Given the description of an element on the screen output the (x, y) to click on. 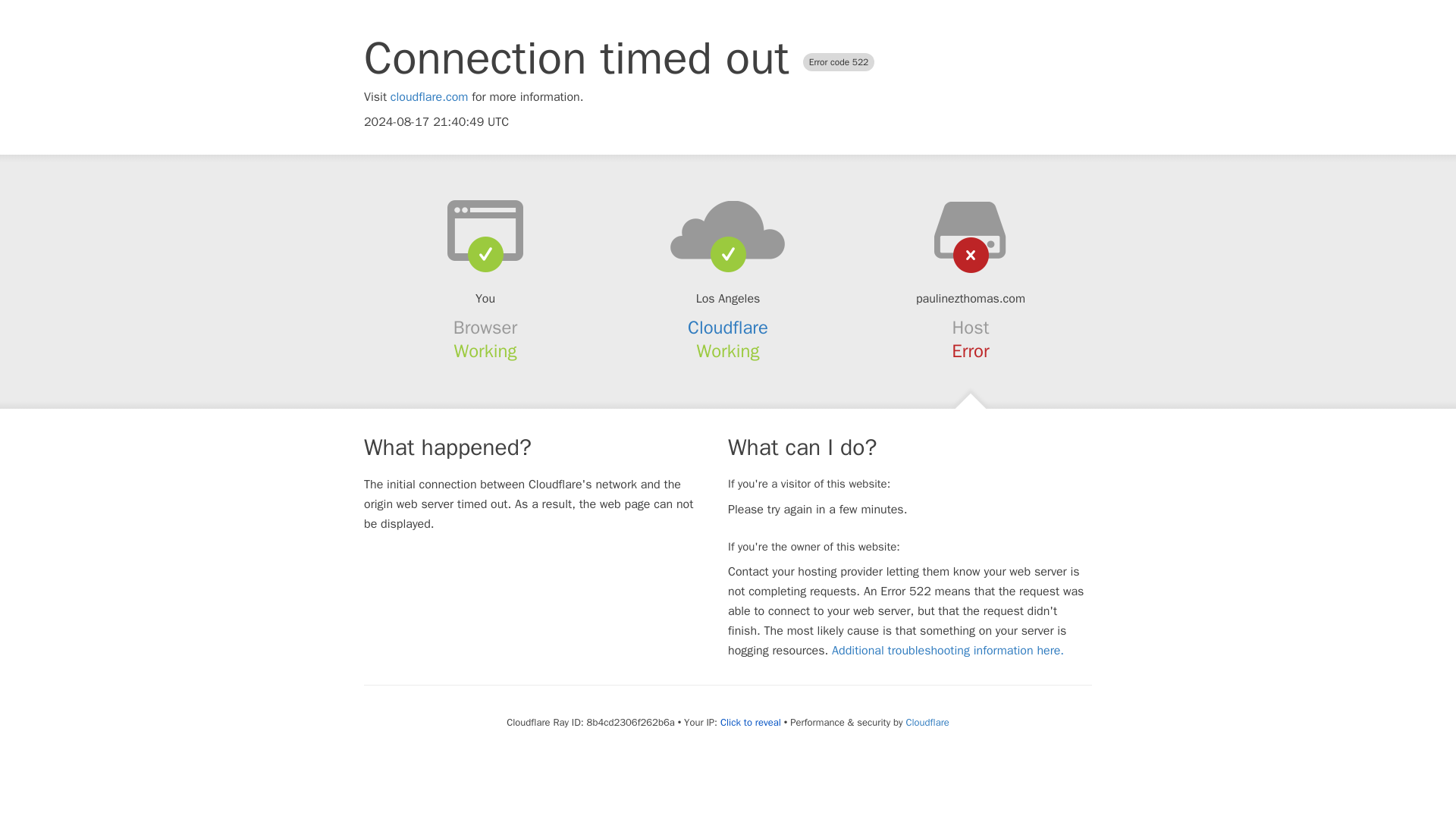
Additional troubleshooting information here. (947, 650)
Click to reveal (750, 722)
cloudflare.com (429, 96)
Cloudflare (927, 721)
Cloudflare (727, 327)
